Given the description of an element on the screen output the (x, y) to click on. 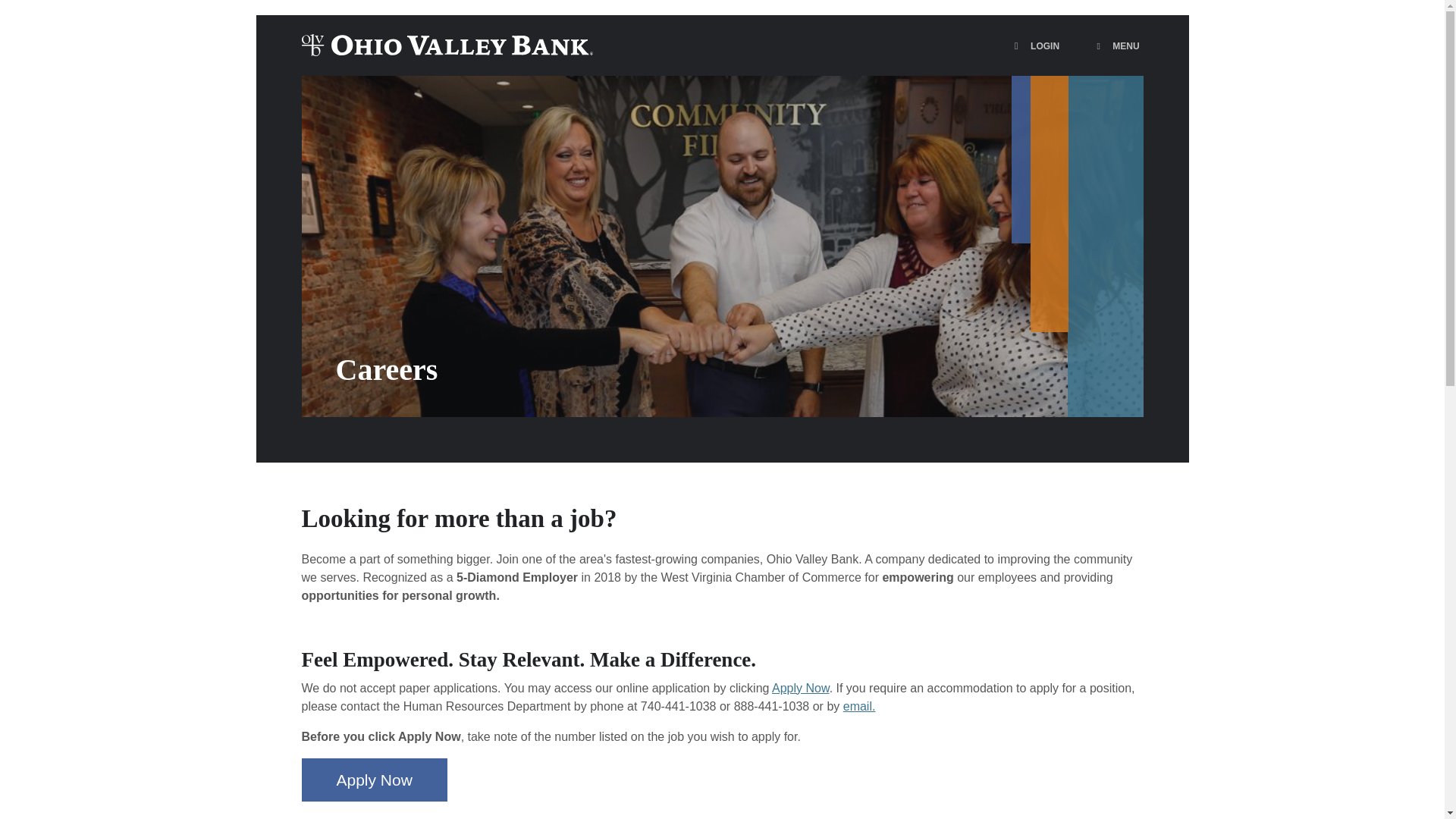
Access your account (1117, 45)
The Ohio Valley Bank Company, Gallipolis, OH (1034, 204)
